Given the description of an element on the screen output the (x, y) to click on. 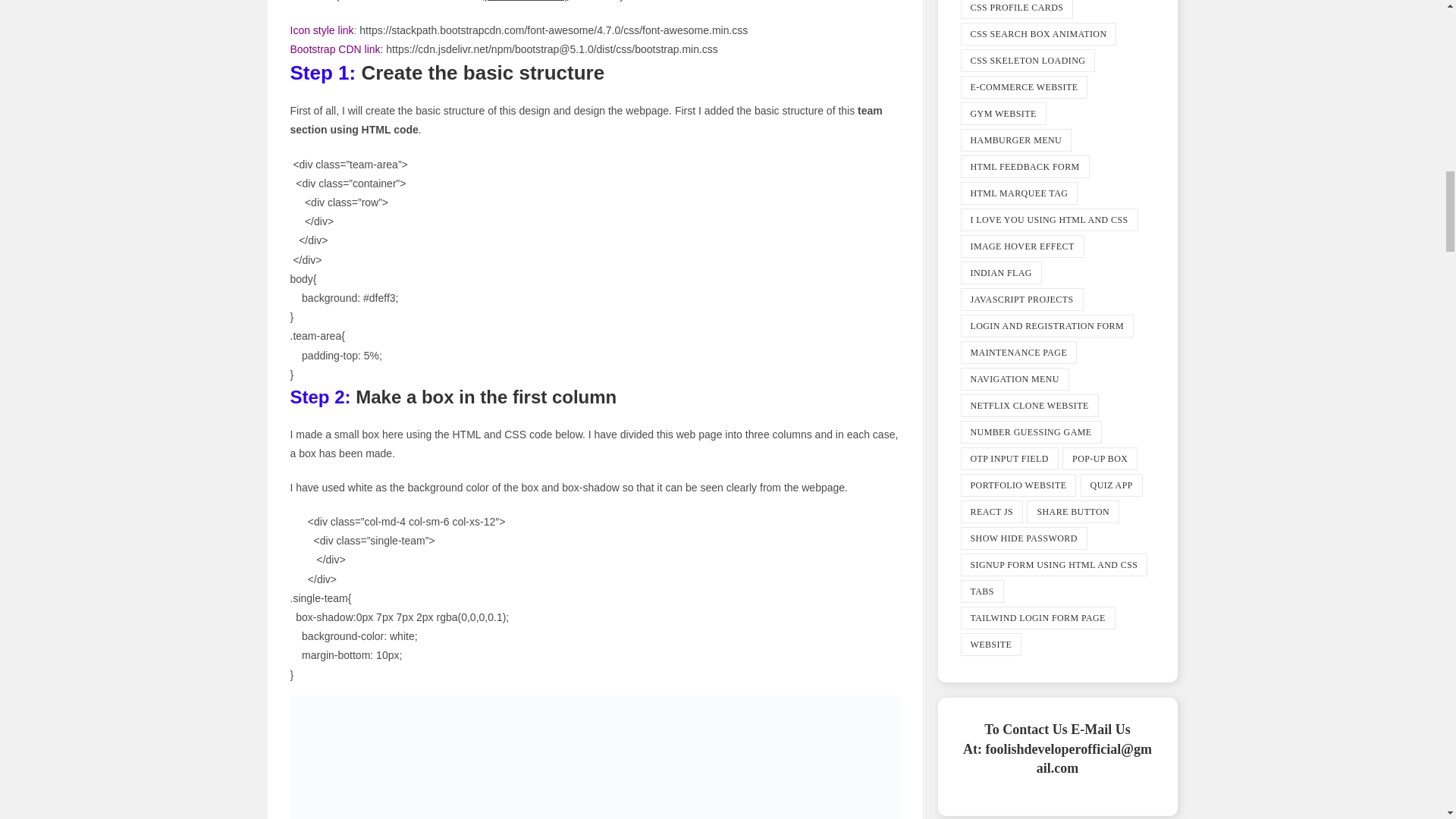
Make a box in the first column (594, 757)
